Given the description of an element on the screen output the (x, y) to click on. 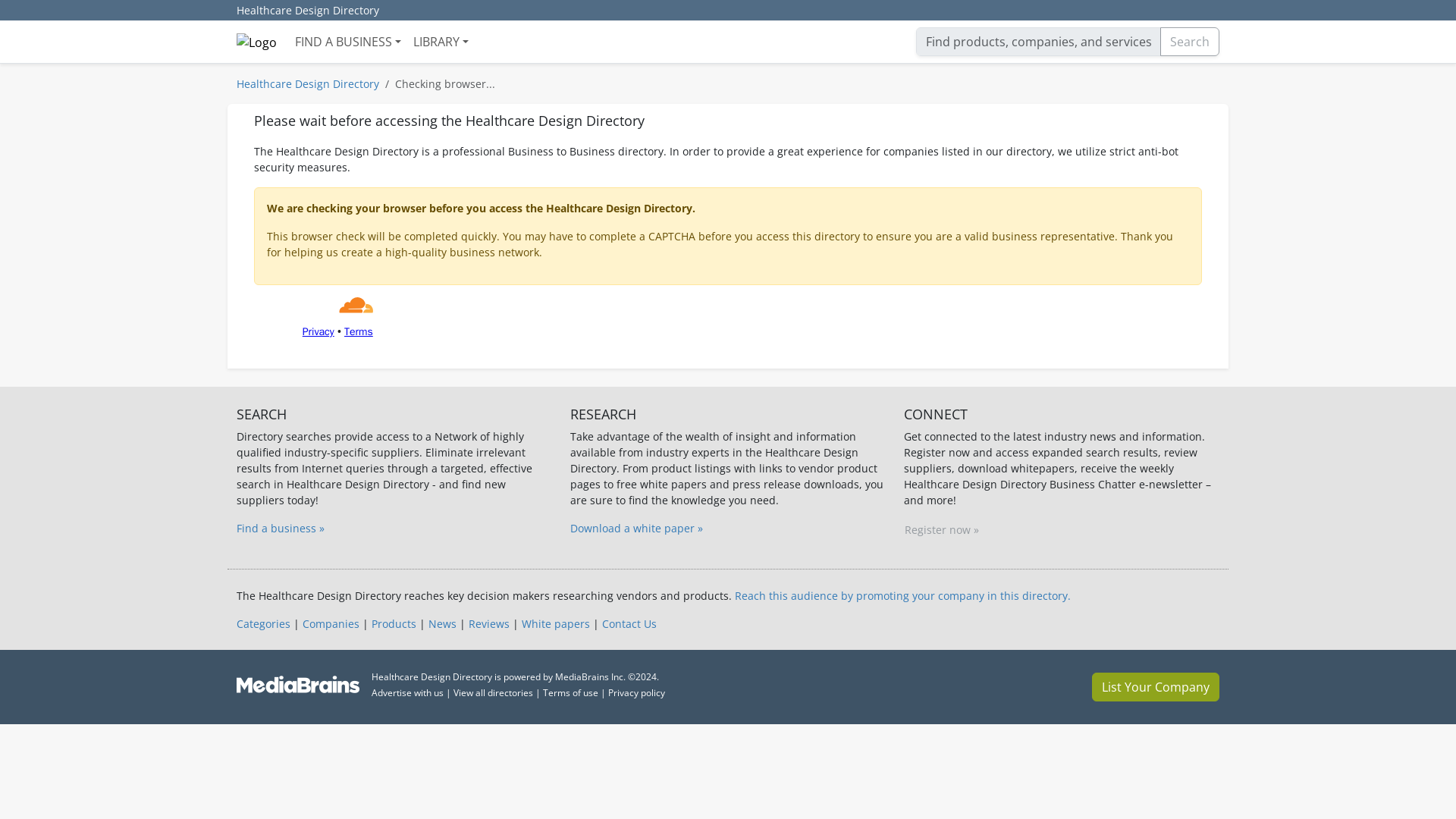
Contact Us (629, 623)
White papers (555, 623)
Terms of use (570, 692)
View all directories (492, 692)
Advertise with us (407, 692)
Reviews (488, 623)
Healthcare Design Directory (307, 10)
Privacy policy (636, 692)
Companies (330, 623)
